Given the description of an element on the screen output the (x, y) to click on. 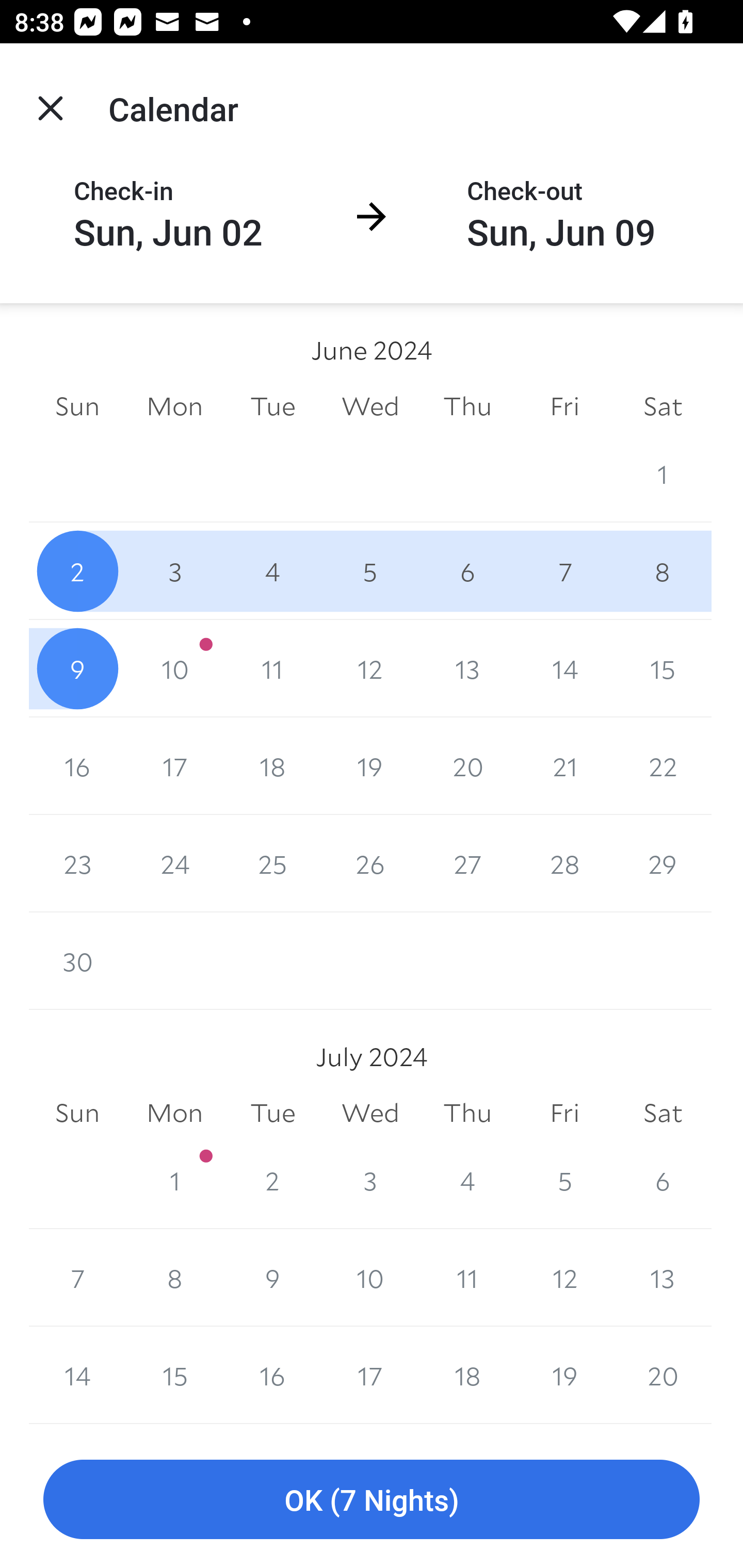
Sun (77, 405)
Mon (174, 405)
Tue (272, 405)
Wed (370, 405)
Thu (467, 405)
Fri (564, 405)
Sat (662, 405)
1 1 June 2024 (662, 473)
2 2 June 2024 (77, 570)
3 3 June 2024 (174, 570)
4 4 June 2024 (272, 570)
5 5 June 2024 (370, 570)
6 6 June 2024 (467, 570)
7 7 June 2024 (564, 570)
8 8 June 2024 (662, 570)
9 9 June 2024 (77, 668)
10 10 June 2024 (174, 668)
11 11 June 2024 (272, 668)
12 12 June 2024 (370, 668)
13 13 June 2024 (467, 668)
14 14 June 2024 (564, 668)
15 15 June 2024 (662, 668)
16 16 June 2024 (77, 766)
17 17 June 2024 (174, 766)
18 18 June 2024 (272, 766)
19 19 June 2024 (370, 766)
20 20 June 2024 (467, 766)
21 21 June 2024 (564, 766)
22 22 June 2024 (662, 766)
23 23 June 2024 (77, 863)
24 24 June 2024 (174, 863)
25 25 June 2024 (272, 863)
26 26 June 2024 (370, 863)
27 27 June 2024 (467, 863)
28 28 June 2024 (564, 863)
29 29 June 2024 (662, 863)
30 30 June 2024 (77, 960)
Sun (77, 1113)
Mon (174, 1113)
Tue (272, 1113)
Wed (370, 1113)
Thu (467, 1113)
Fri (564, 1113)
Sat (662, 1113)
1 1 July 2024 (174, 1180)
2 2 July 2024 (272, 1180)
3 3 July 2024 (370, 1180)
4 4 July 2024 (467, 1180)
5 5 July 2024 (564, 1180)
6 6 July 2024 (662, 1180)
7 7 July 2024 (77, 1277)
8 8 July 2024 (174, 1277)
9 9 July 2024 (272, 1277)
10 10 July 2024 (370, 1277)
11 11 July 2024 (467, 1277)
12 12 July 2024 (564, 1277)
13 13 July 2024 (662, 1277)
14 14 July 2024 (77, 1374)
15 15 July 2024 (174, 1374)
16 16 July 2024 (272, 1374)
17 17 July 2024 (370, 1374)
18 18 July 2024 (467, 1374)
19 19 July 2024 (564, 1374)
20 20 July 2024 (662, 1374)
OK (7 Nights) (371, 1499)
